Given the description of an element on the screen output the (x, y) to click on. 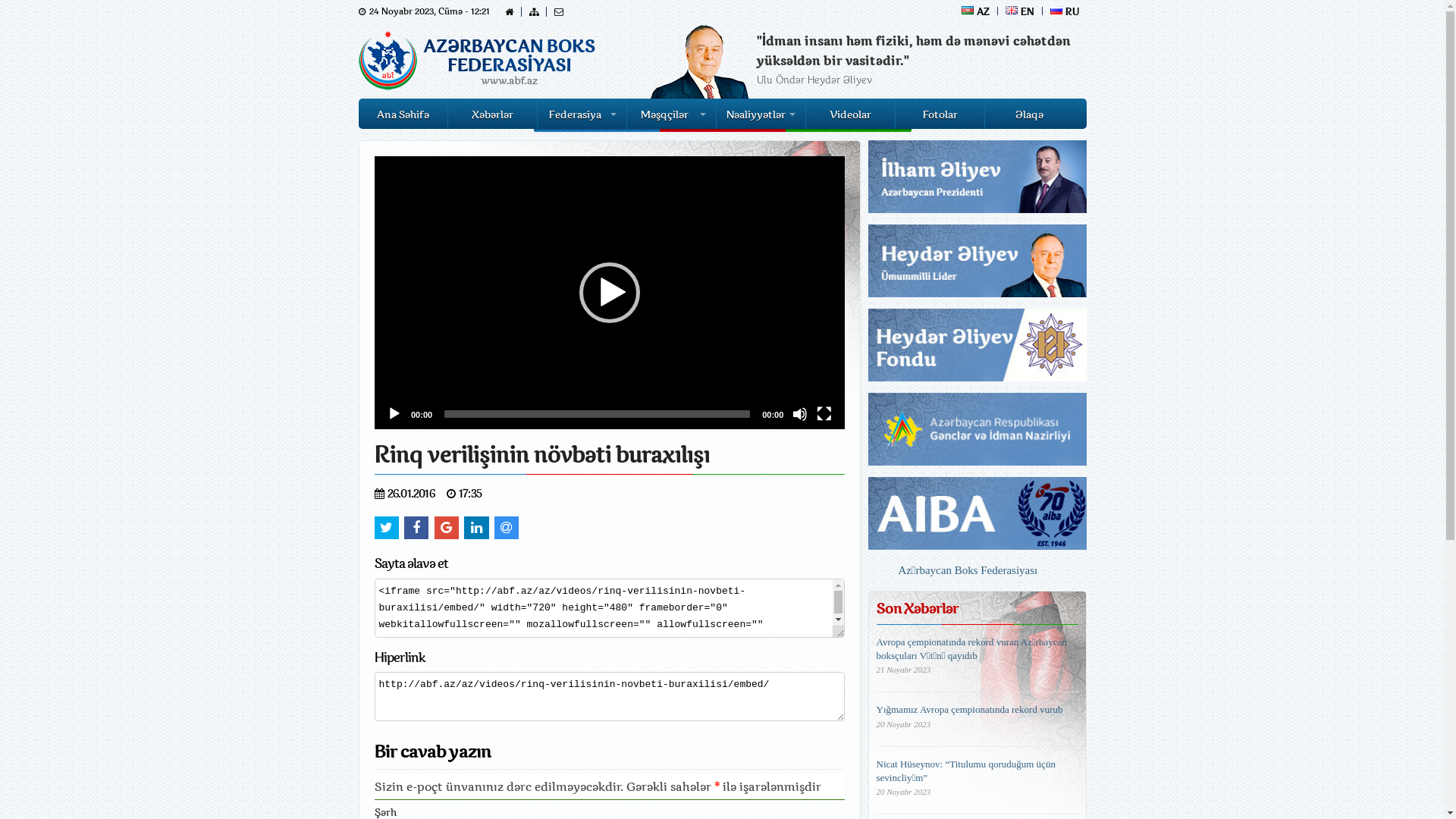
Federasiya Element type: text (581, 113)
RU Element type: text (1063, 10)
Videolar Element type: text (849, 113)
EN Element type: text (1019, 10)
AZ Element type: text (975, 10)
Fotolar Element type: text (939, 113)
